Given the description of an element on the screen output the (x, y) to click on. 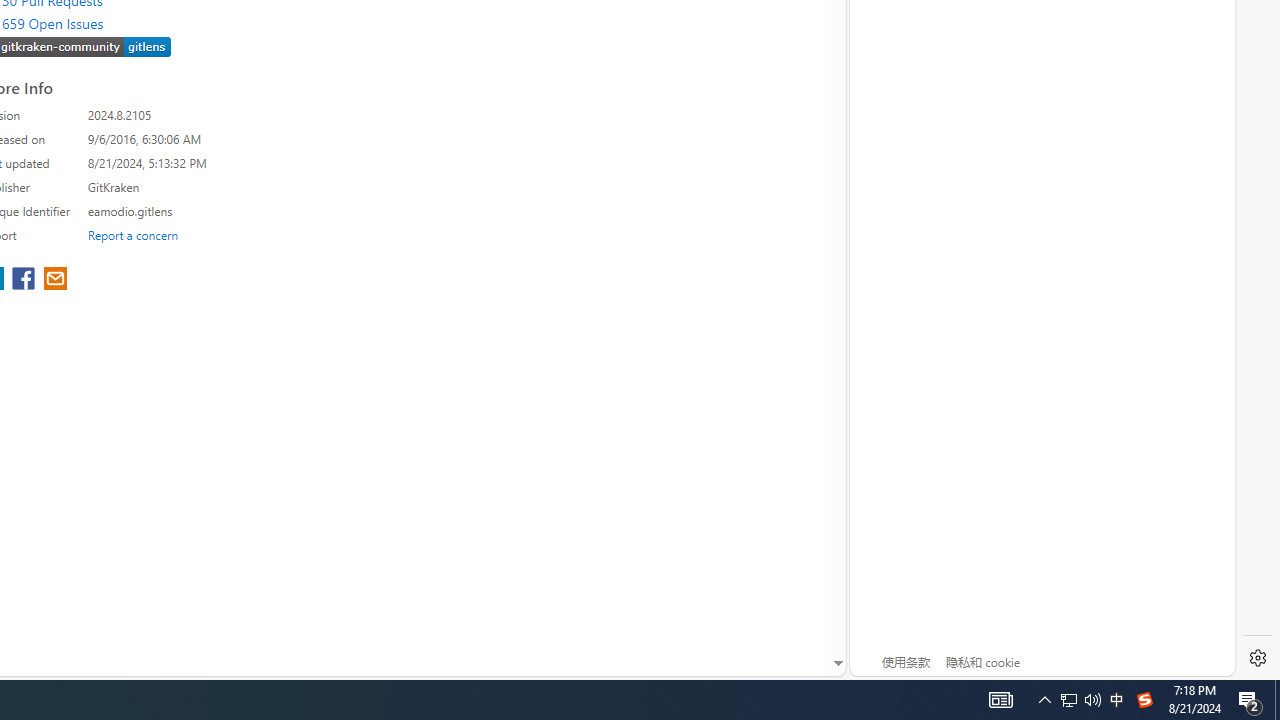
Notification Chevron (1069, 699)
Tray Input Indicator - Chinese (Simplified, China) (1044, 699)
User Promoted Notification Area (1144, 699)
Q2790: 100% (1080, 699)
Show desktop (1092, 699)
Action Center, 2 new notifications (1277, 699)
AutomationID: 4105 (1250, 699)
